Given the description of an element on the screen output the (x, y) to click on. 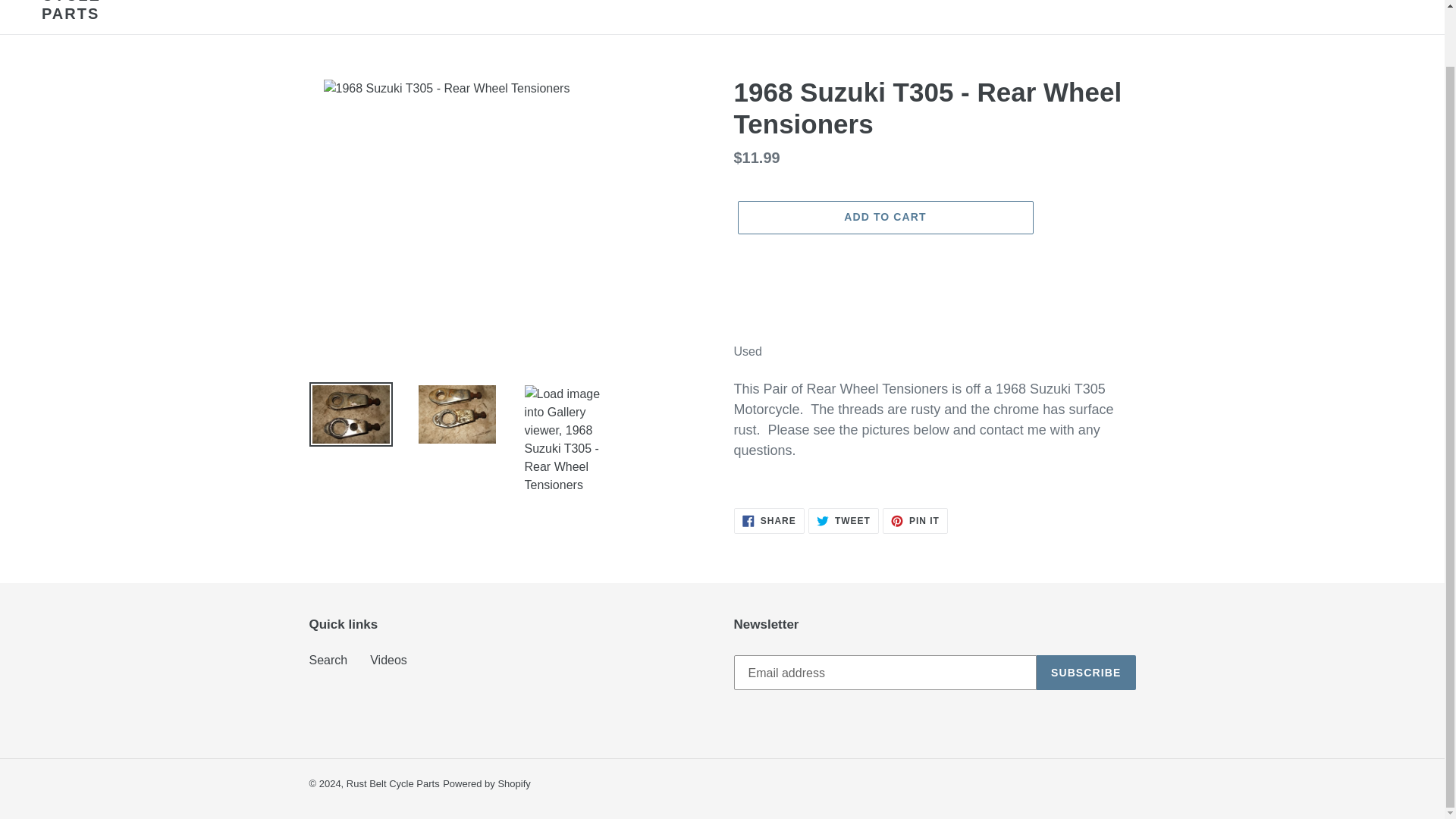
Powered by Shopify (769, 520)
Submit (486, 783)
ADD TO CART (1348, 1)
Cart (884, 217)
Videos (1385, 1)
Search (843, 520)
Rust Belt Cycle Parts (388, 659)
